Given the description of an element on the screen output the (x, y) to click on. 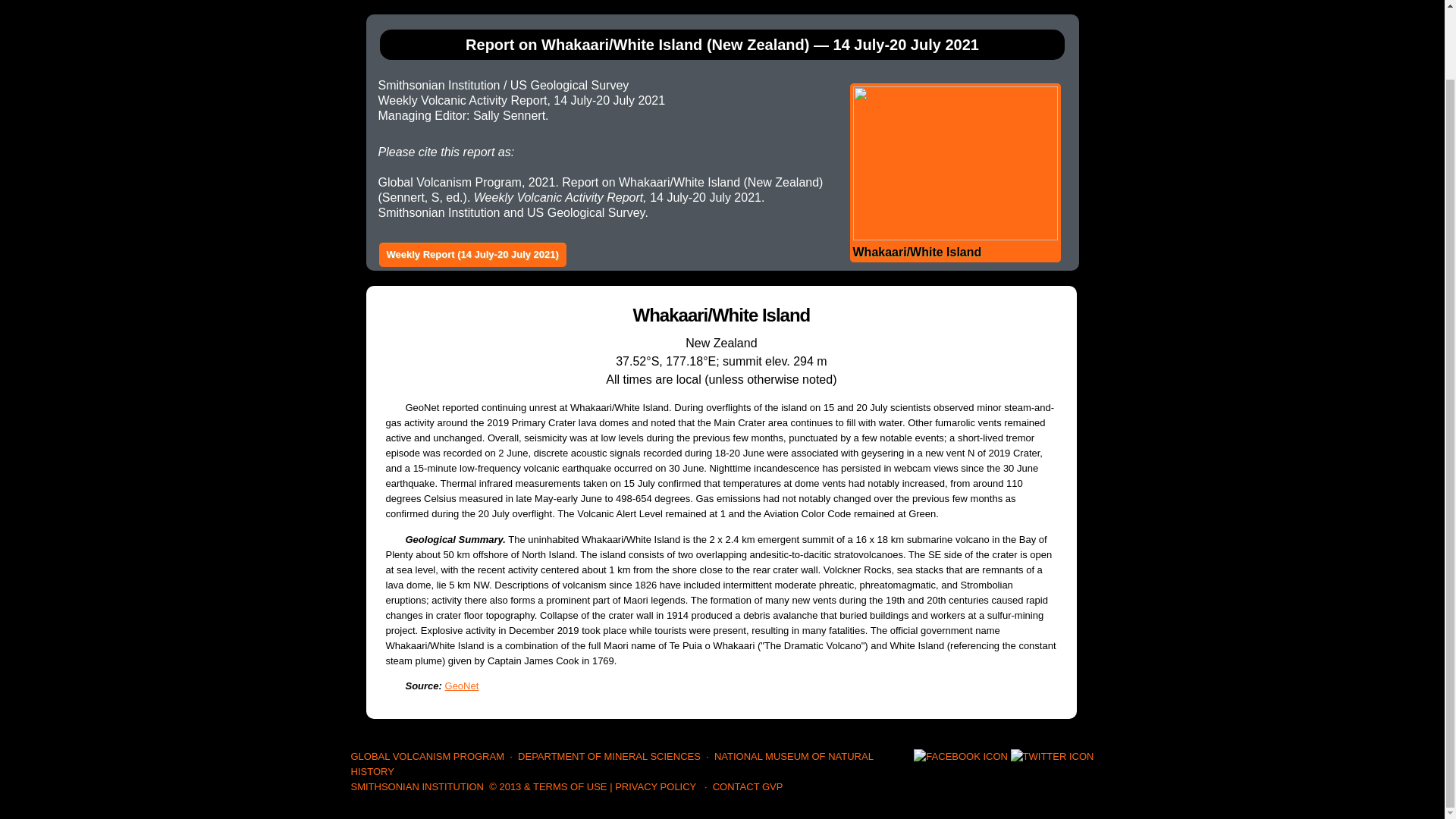
Link to Copyright Notice and Terms of Use (548, 786)
Send email to GVP (748, 786)
GeoNet (462, 685)
Facebook (960, 756)
Link to Privacy Notice (654, 786)
Twitter (1052, 756)
